Given the description of an element on the screen output the (x, y) to click on. 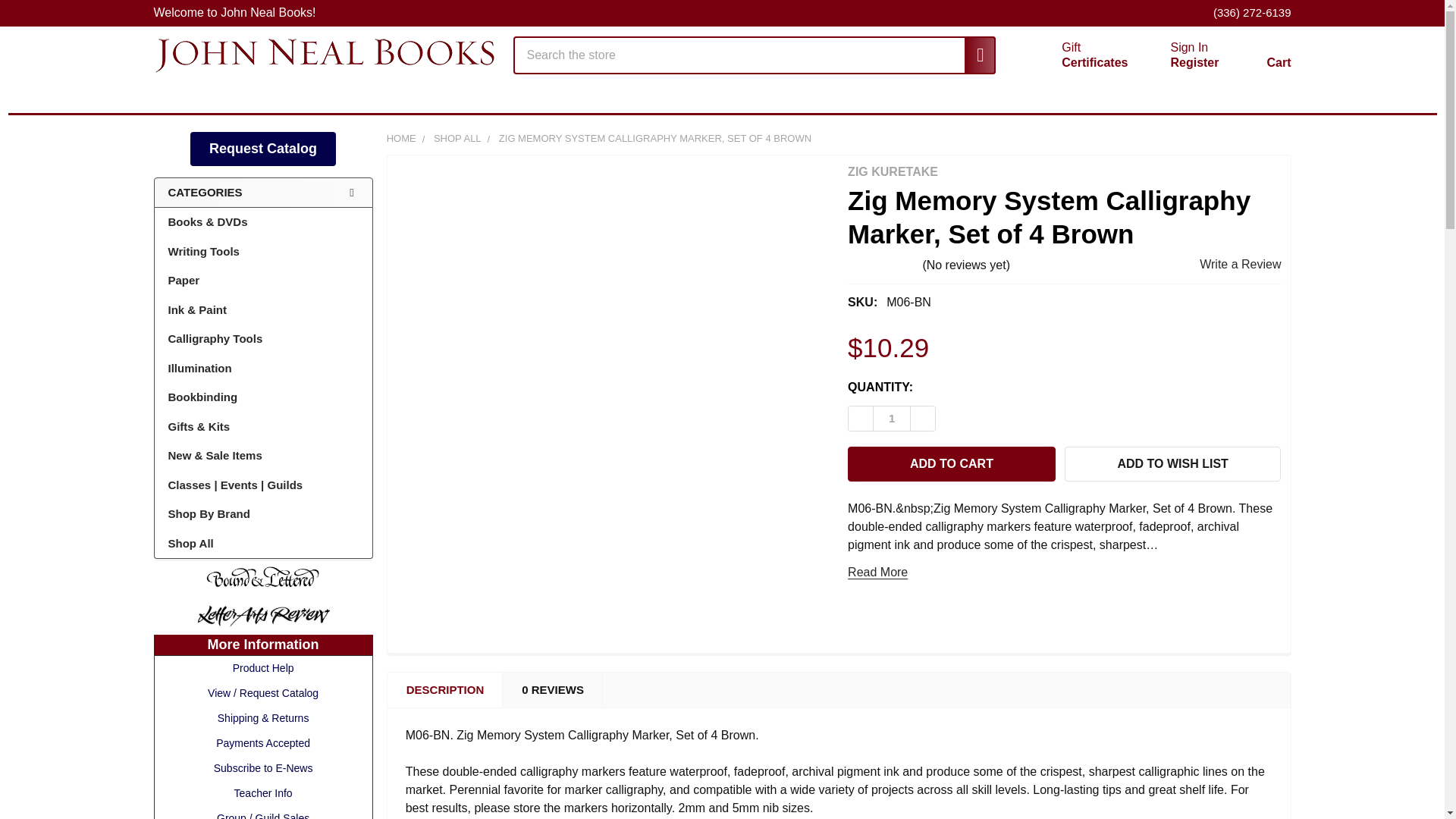
Cart (1260, 58)
Register (1194, 62)
Add to Cart (1076, 55)
Instagram (951, 463)
John Neal Books (1276, 92)
1 (323, 54)
Search (891, 418)
Sign In (972, 55)
Cart (1189, 47)
